Given the description of an element on the screen output the (x, y) to click on. 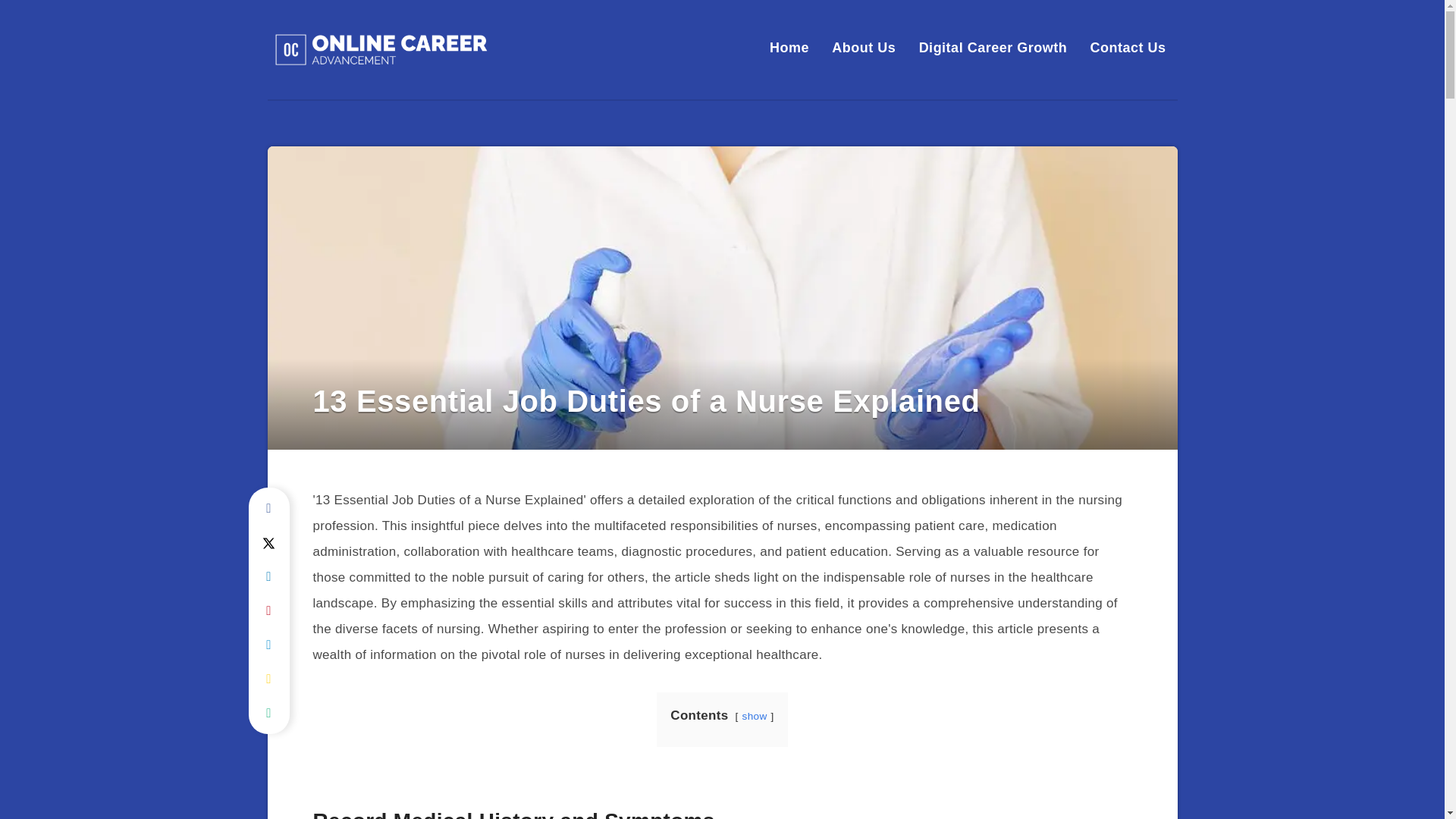
show (754, 715)
Digital Career Growth (992, 47)
Home (789, 47)
Contact Us (1127, 47)
About Us (863, 47)
